Given the description of an element on the screen output the (x, y) to click on. 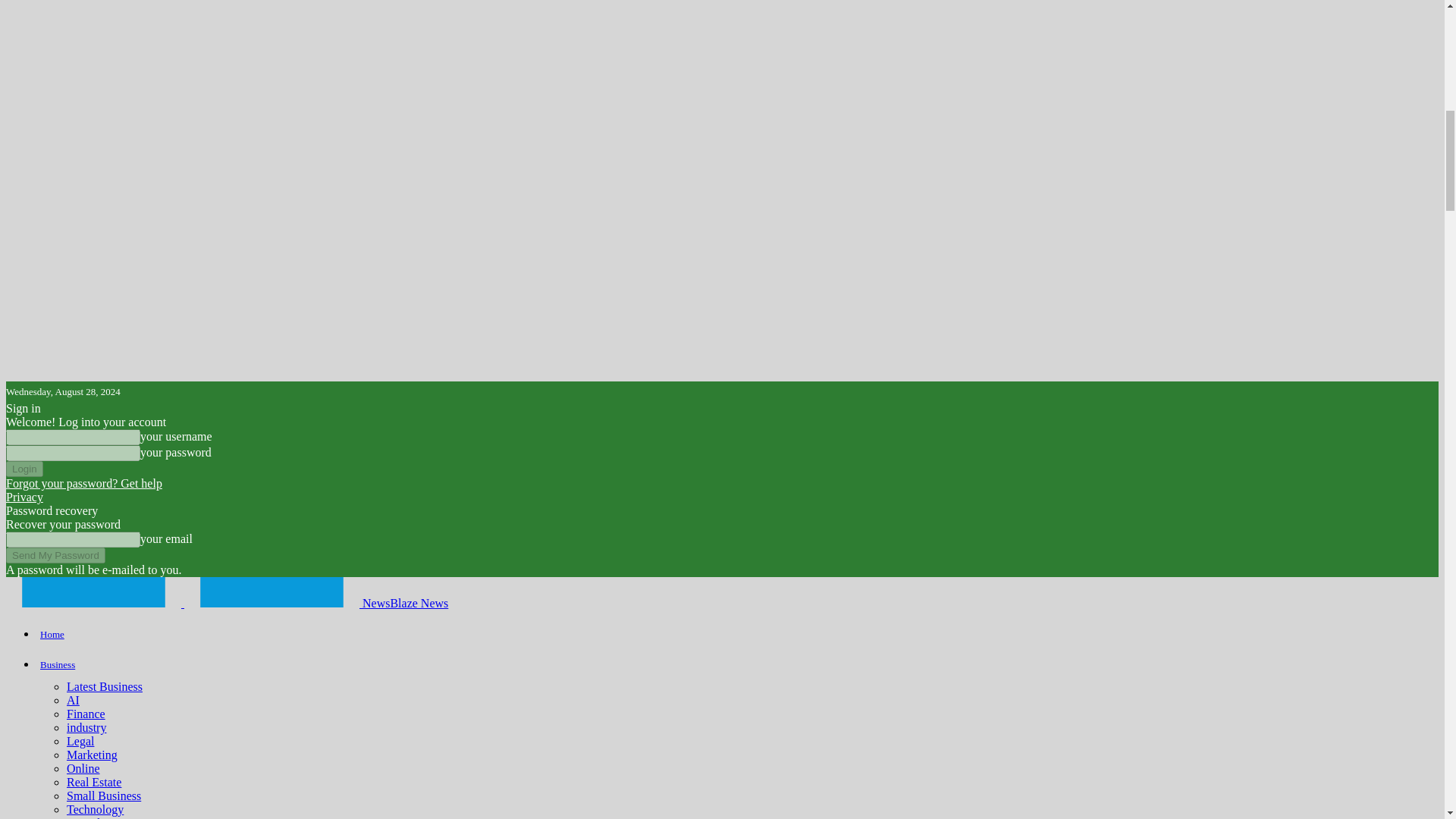
NewsBlaze News logo (92, 592)
Login (24, 468)
Send My Password (54, 555)
NewsBlaze News logo (271, 592)
